Given the description of an element on the screen output the (x, y) to click on. 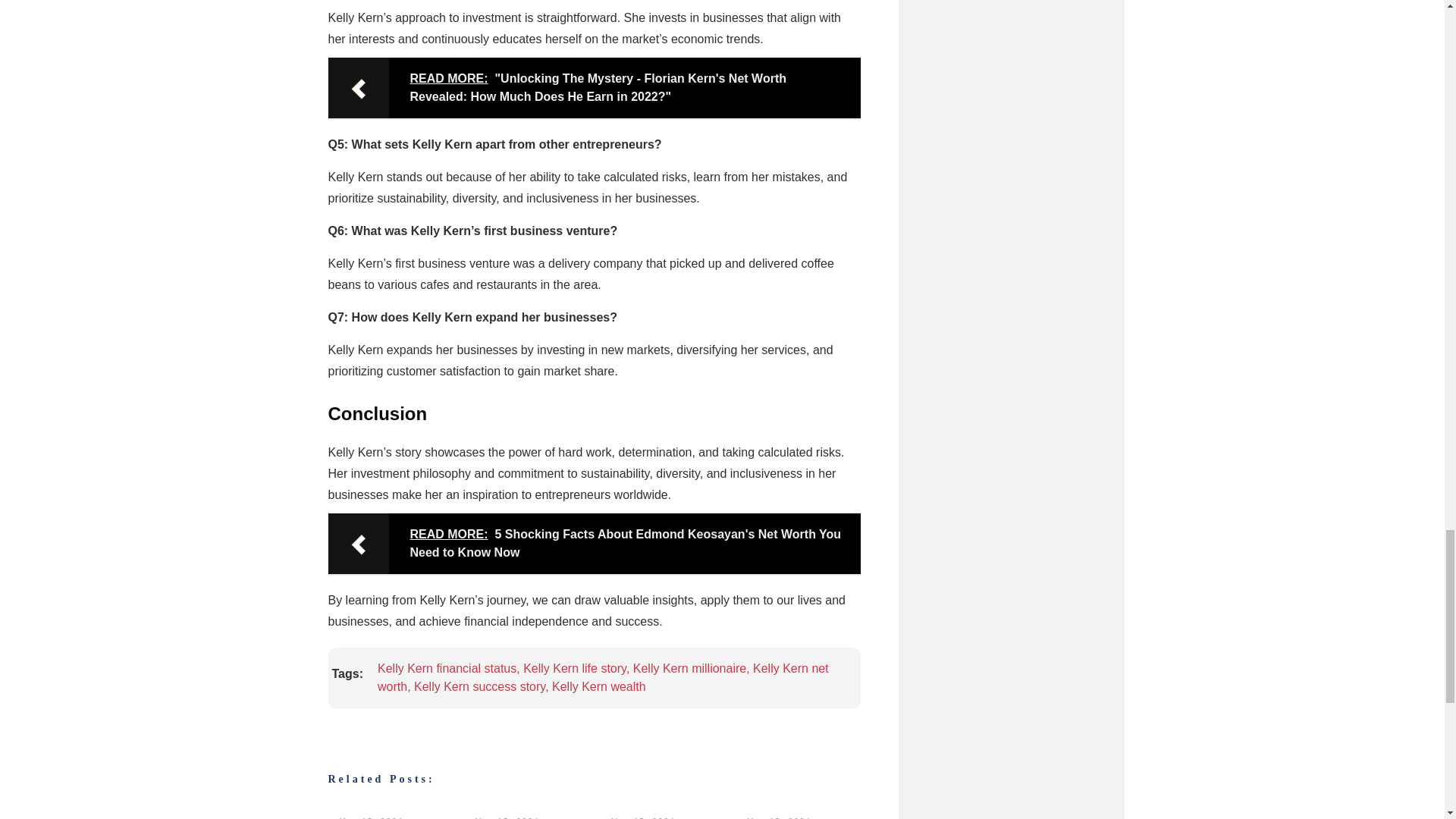
Kelly Kern millionaire (689, 667)
Kelly Kern wealth (598, 686)
Kelly Kern life story (574, 667)
Kelly Kern wealth (598, 686)
Kelly Kern net worth (602, 676)
Kelly Kern success story (478, 686)
Kelly Kern financial status (446, 667)
Kelly Kern millionaire (689, 667)
Kelly Kern life story (574, 667)
